Given the description of an element on the screen output the (x, y) to click on. 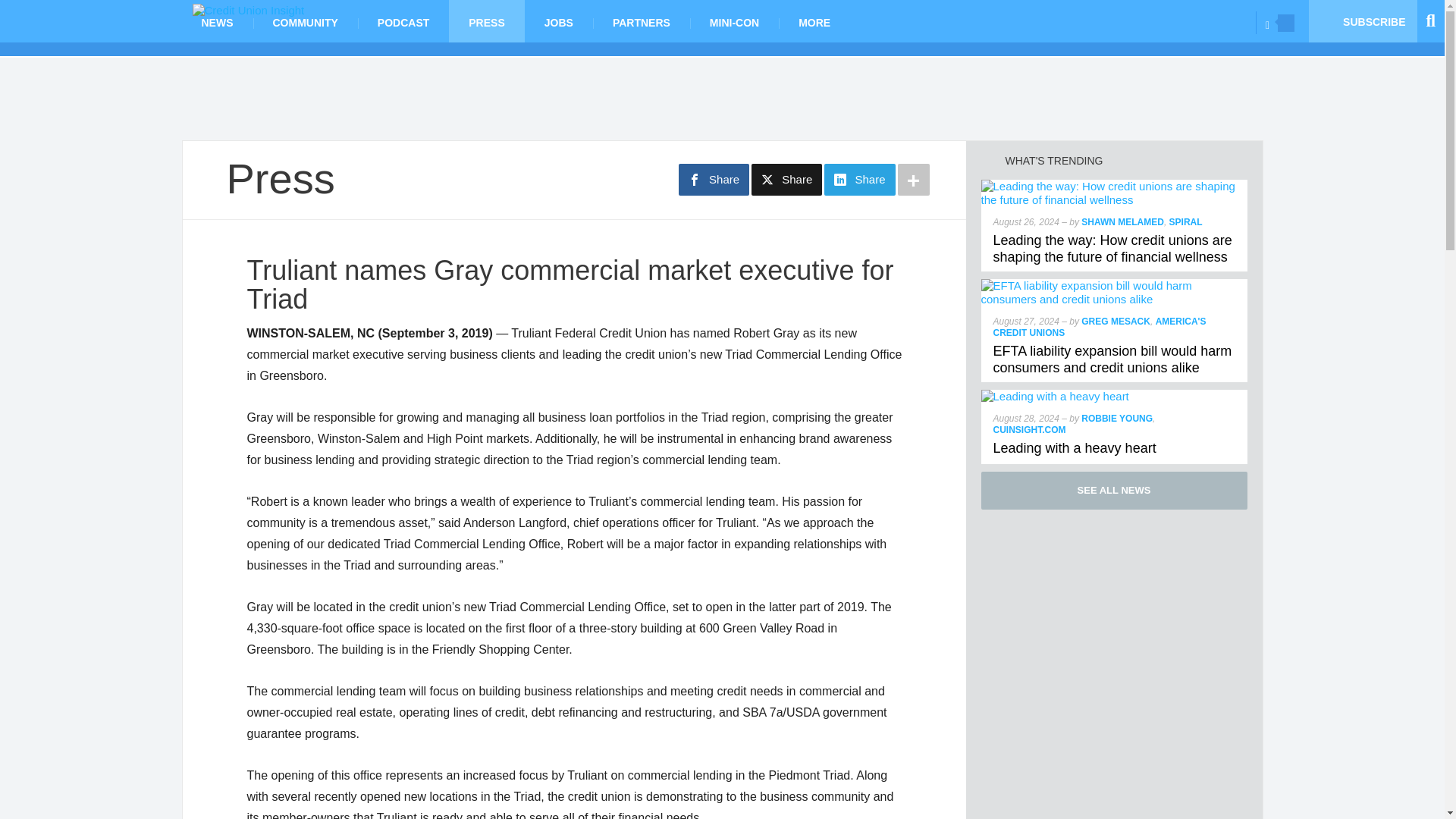
NEWS (217, 21)
PARTNERS (641, 21)
Leading with a heavy heart (1055, 395)
COMMUNITY (305, 21)
Press (279, 178)
MORE (814, 21)
JOBS (558, 21)
